Given the description of an element on the screen output the (x, y) to click on. 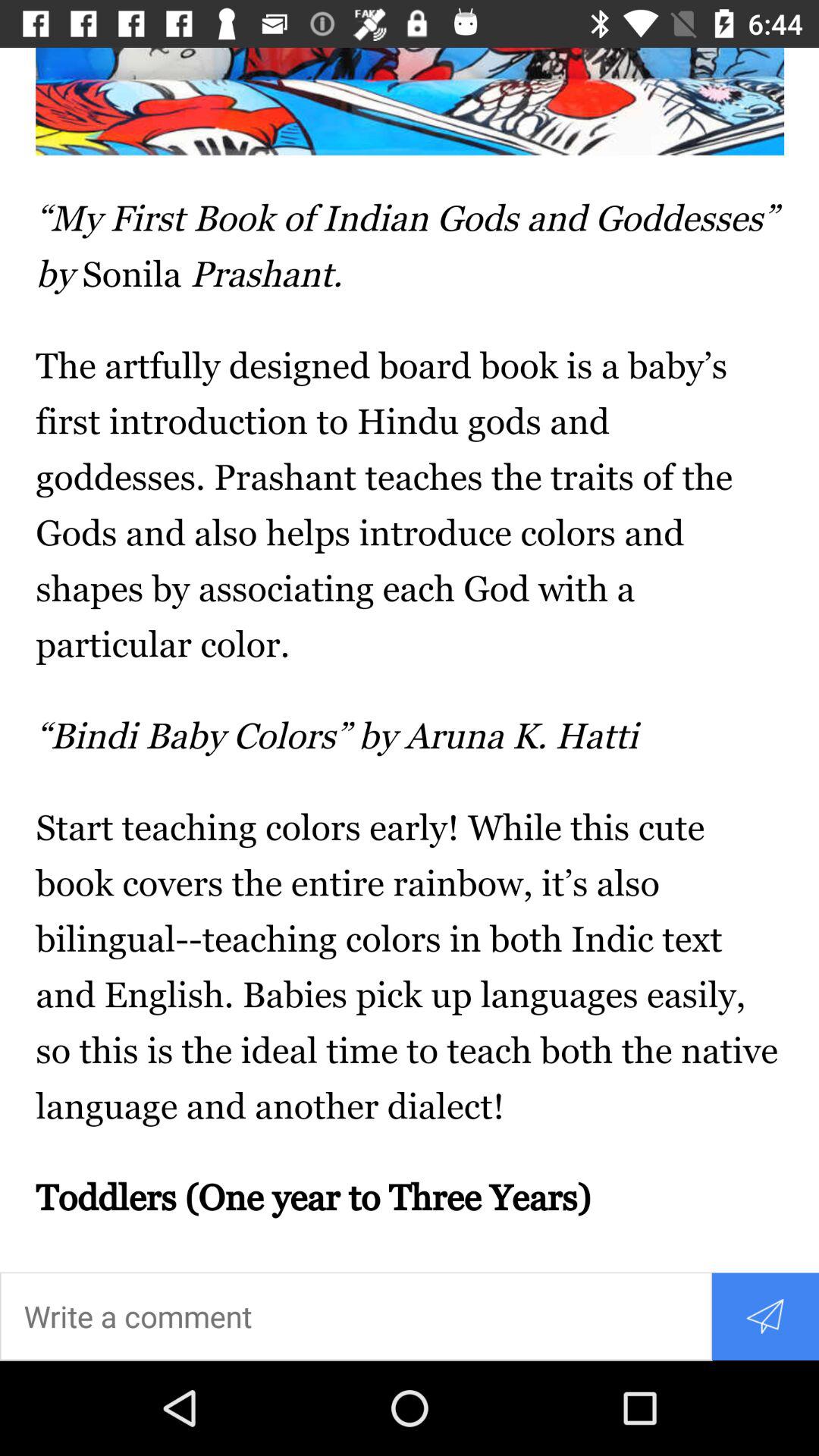
comment (356, 1316)
